Given the description of an element on the screen output the (x, y) to click on. 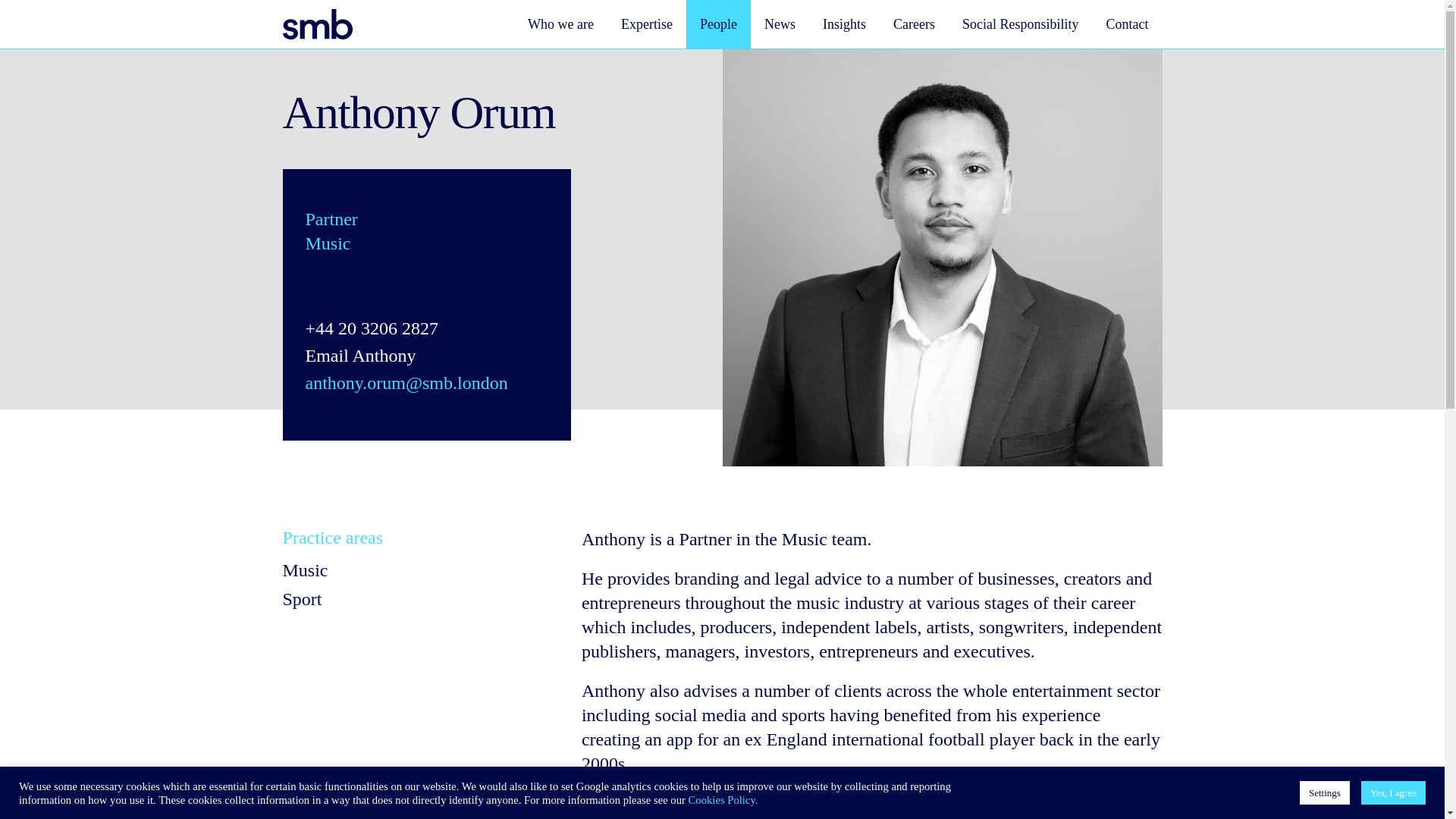
Careers (914, 24)
Who we are (560, 24)
Expertise (646, 24)
Insights (844, 24)
Sport (301, 598)
Contact (1126, 24)
People (718, 24)
Social Responsibility (1021, 24)
Music (304, 569)
News (780, 24)
Email Anthony (359, 358)
